Given the description of an element on the screen output the (x, y) to click on. 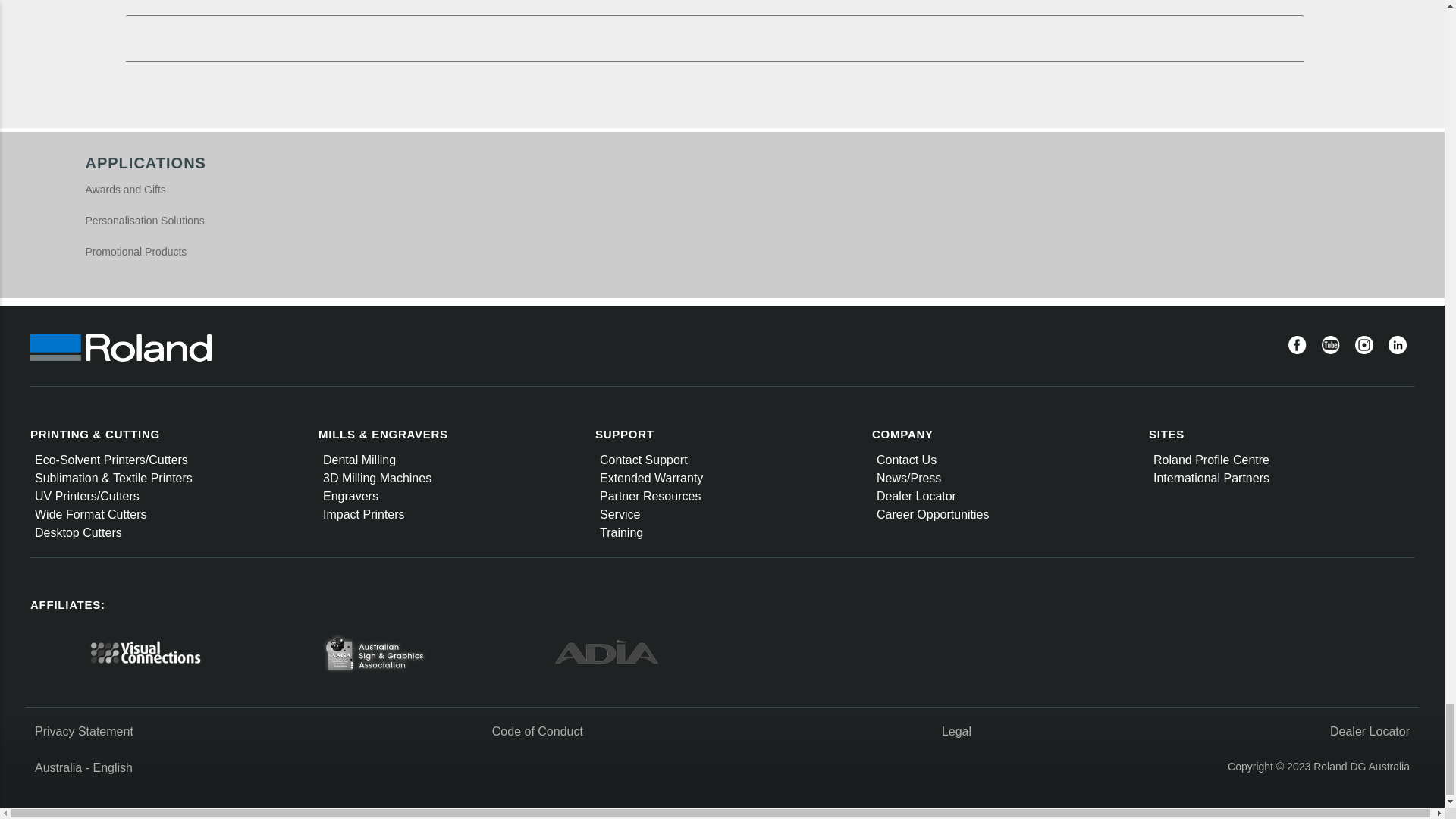
Contact (906, 459)
3D Milling Machines (376, 477)
UV Printers and Printer Cutters (86, 495)
Impact Printers (363, 513)
Dental Milling (359, 459)
Legal (956, 730)
Change country (57, 767)
Desktop Cutters (78, 532)
Dealer Locator (916, 495)
Eco-Solvent Printers and Printer Cutters (110, 459)
Training (621, 532)
Sublimation Printers (113, 477)
Engravers (350, 495)
SUPPORT (624, 433)
